Given the description of an element on the screen output the (x, y) to click on. 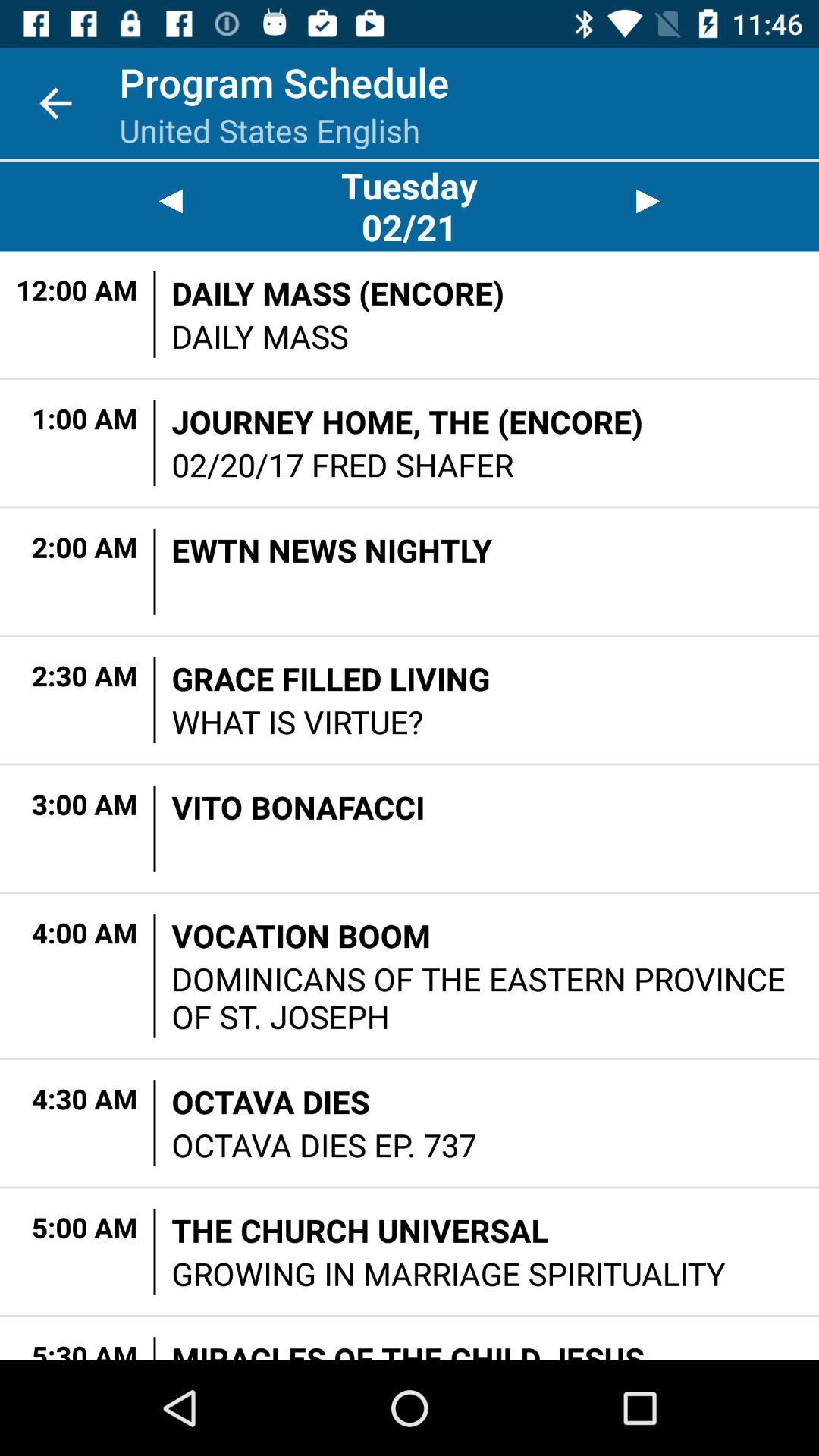
go forward (648, 201)
